Given the description of an element on the screen output the (x, y) to click on. 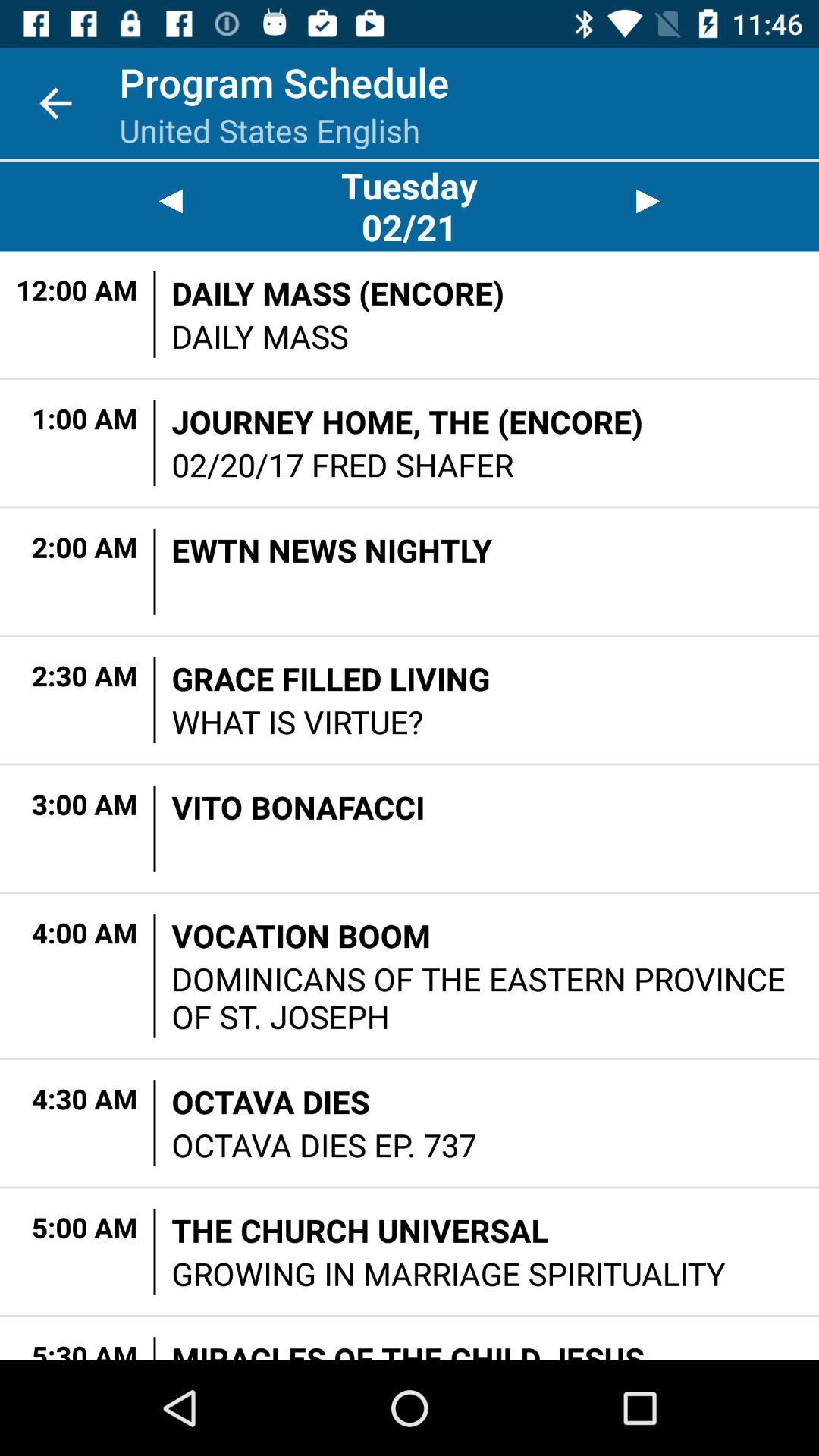
go forward (648, 201)
